Given the description of an element on the screen output the (x, y) to click on. 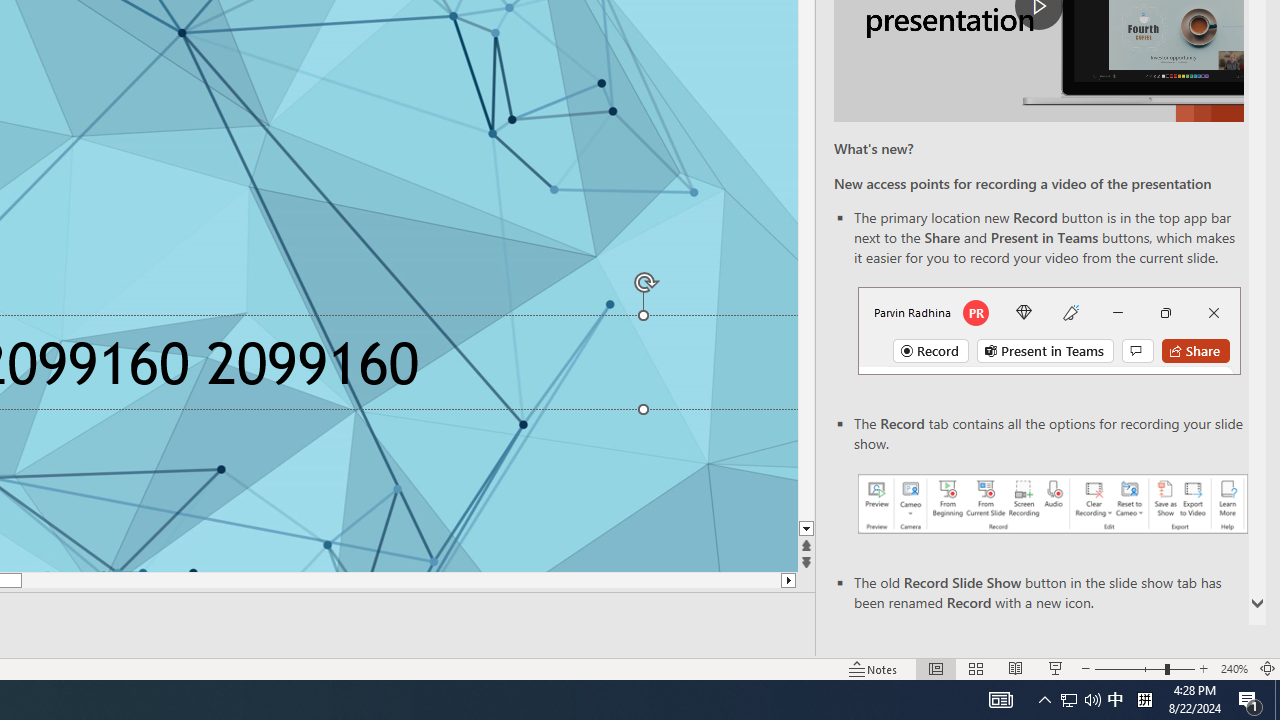
Record your presentations screenshot one (1052, 503)
Record button in top bar (1049, 331)
Zoom 240% (1234, 668)
